Given the description of an element on the screen output the (x, y) to click on. 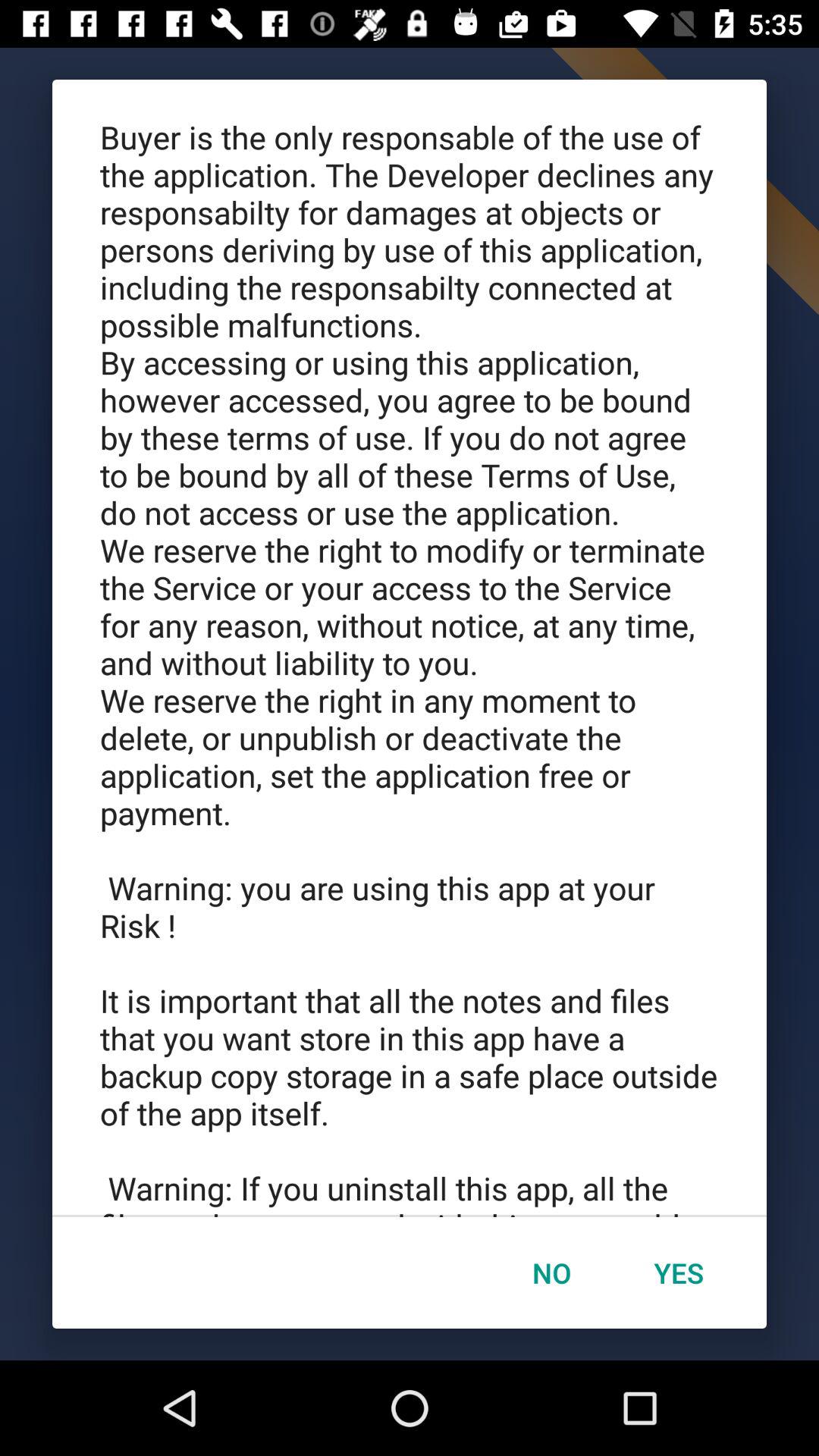
flip to the no button (551, 1272)
